Given the description of an element on the screen output the (x, y) to click on. 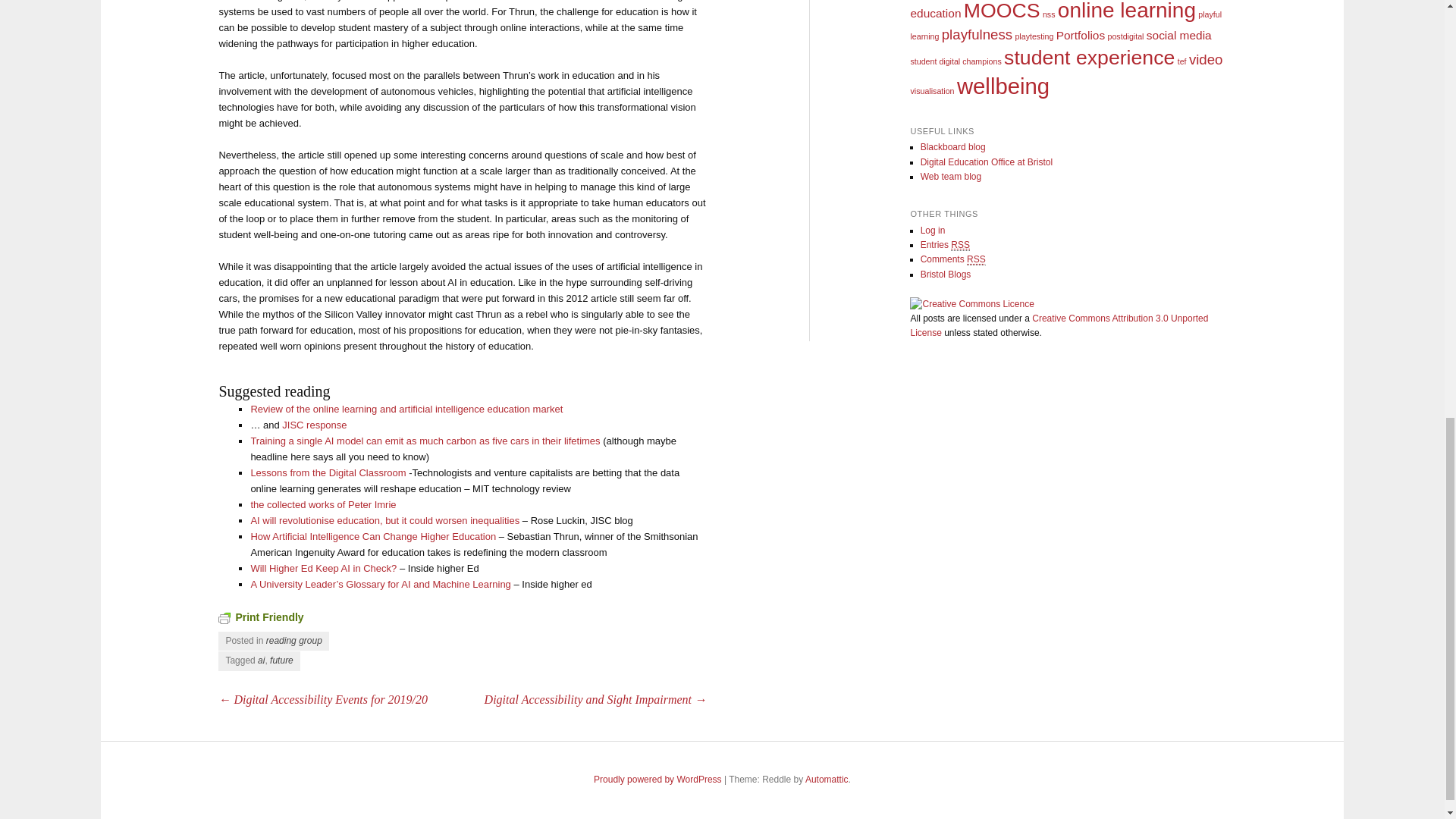
The latest comments to all posts in RSS (952, 259)
the collected works of Peter Imrie (323, 504)
Powered by Bristol Blogs (945, 274)
future (281, 660)
A Semantic Personal Publishing Platform (658, 778)
Will Higher Ed Keep AI in Check? (323, 568)
reading group (293, 640)
How Artificial Intelligence Can Change Higher Education (373, 536)
